Given the description of an element on the screen output the (x, y) to click on. 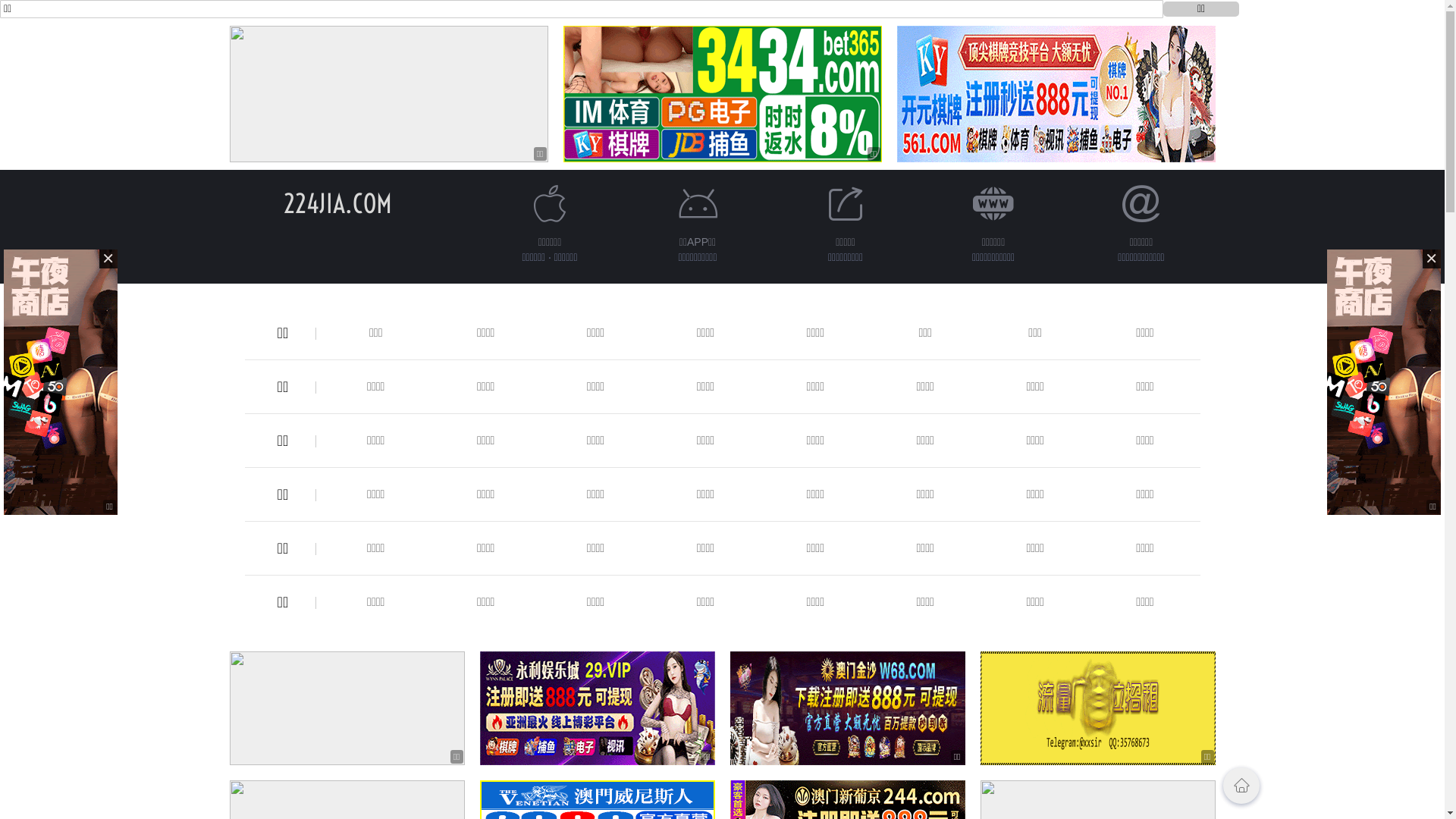
224JIA.COM Element type: text (337, 203)
